Given the description of an element on the screen output the (x, y) to click on. 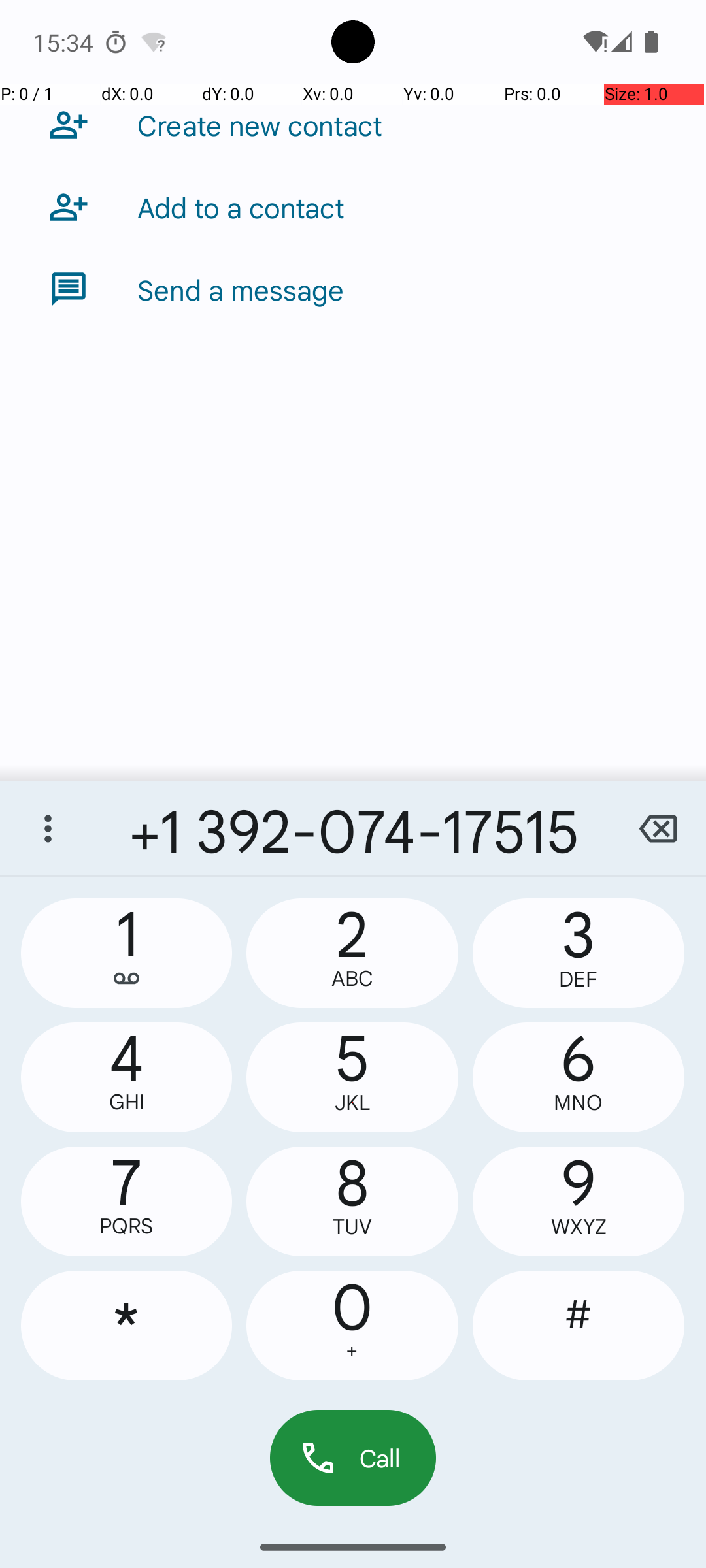
+1 392-074-17515 Element type: android.widget.EditText (352, 828)
